Given the description of an element on the screen output the (x, y) to click on. 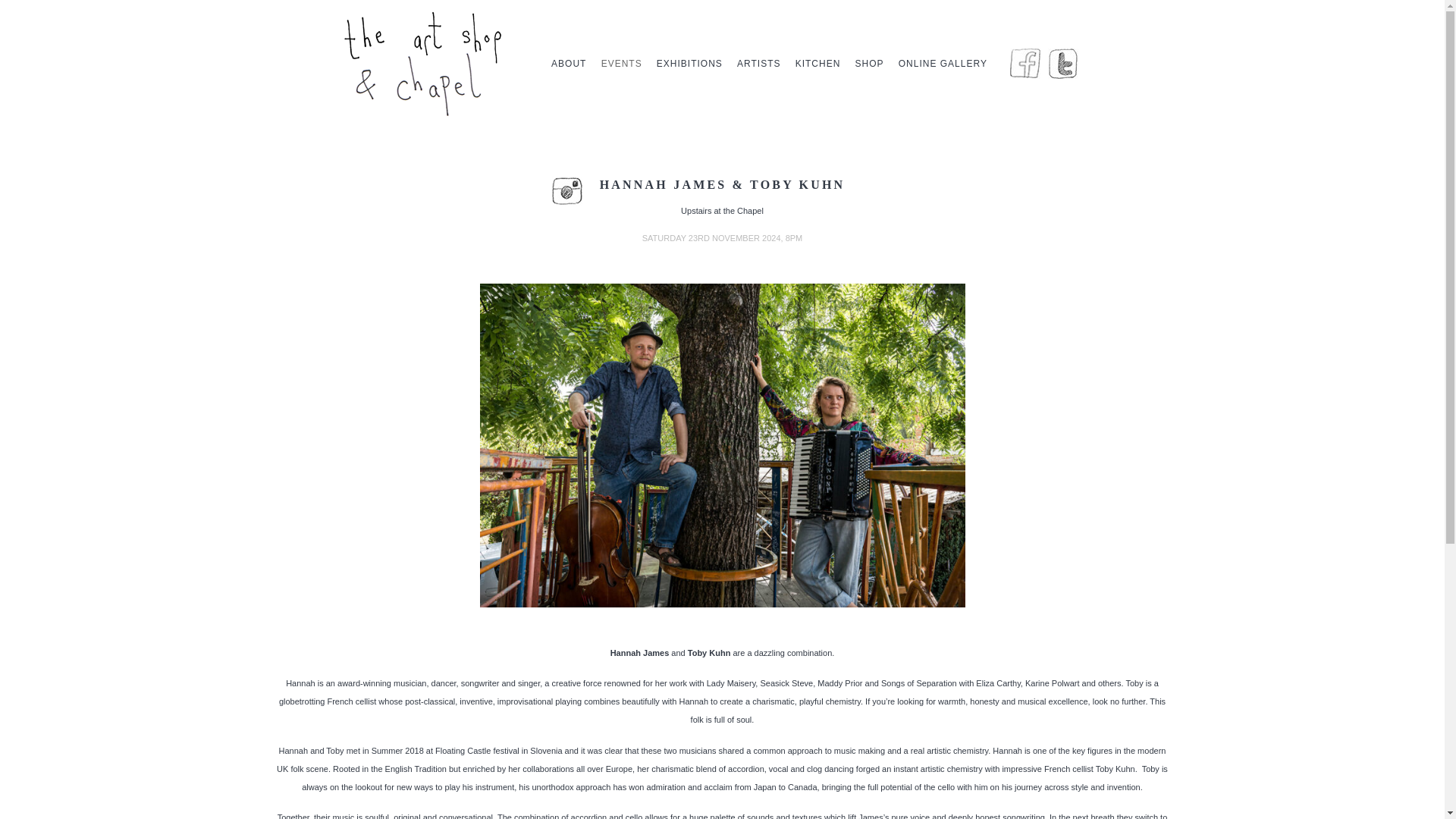
EXHIBITIONS (689, 63)
KITCHEN (817, 63)
ABOUT (569, 63)
EVENTS (621, 63)
ARTISTS (758, 63)
ONLINE GALLERY (942, 63)
SHOP (869, 63)
